Given the description of an element on the screen output the (x, y) to click on. 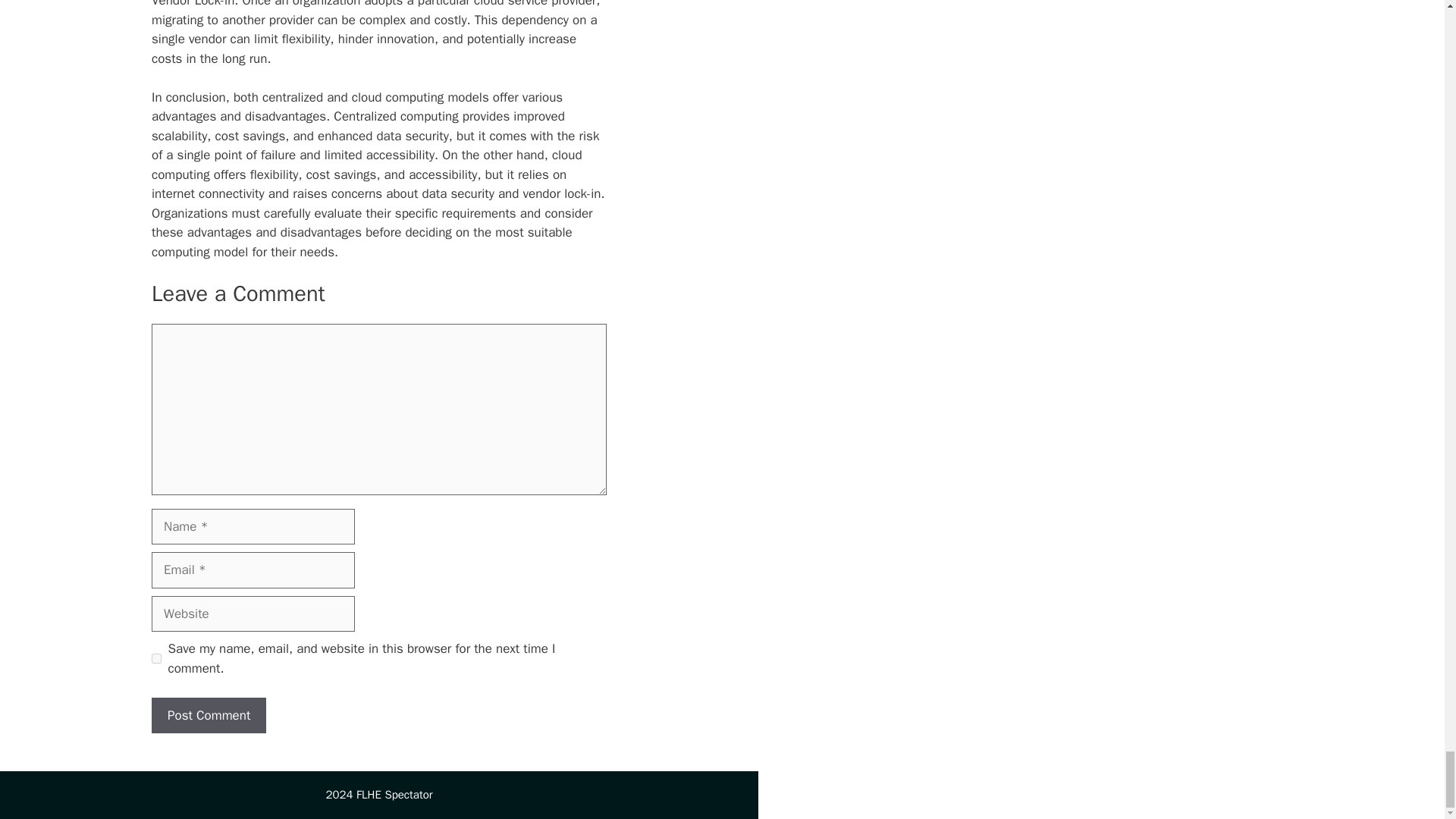
Post Comment (208, 715)
yes (156, 658)
Post Comment (208, 715)
FLHE Spectator (394, 794)
